Given the description of an element on the screen output the (x, y) to click on. 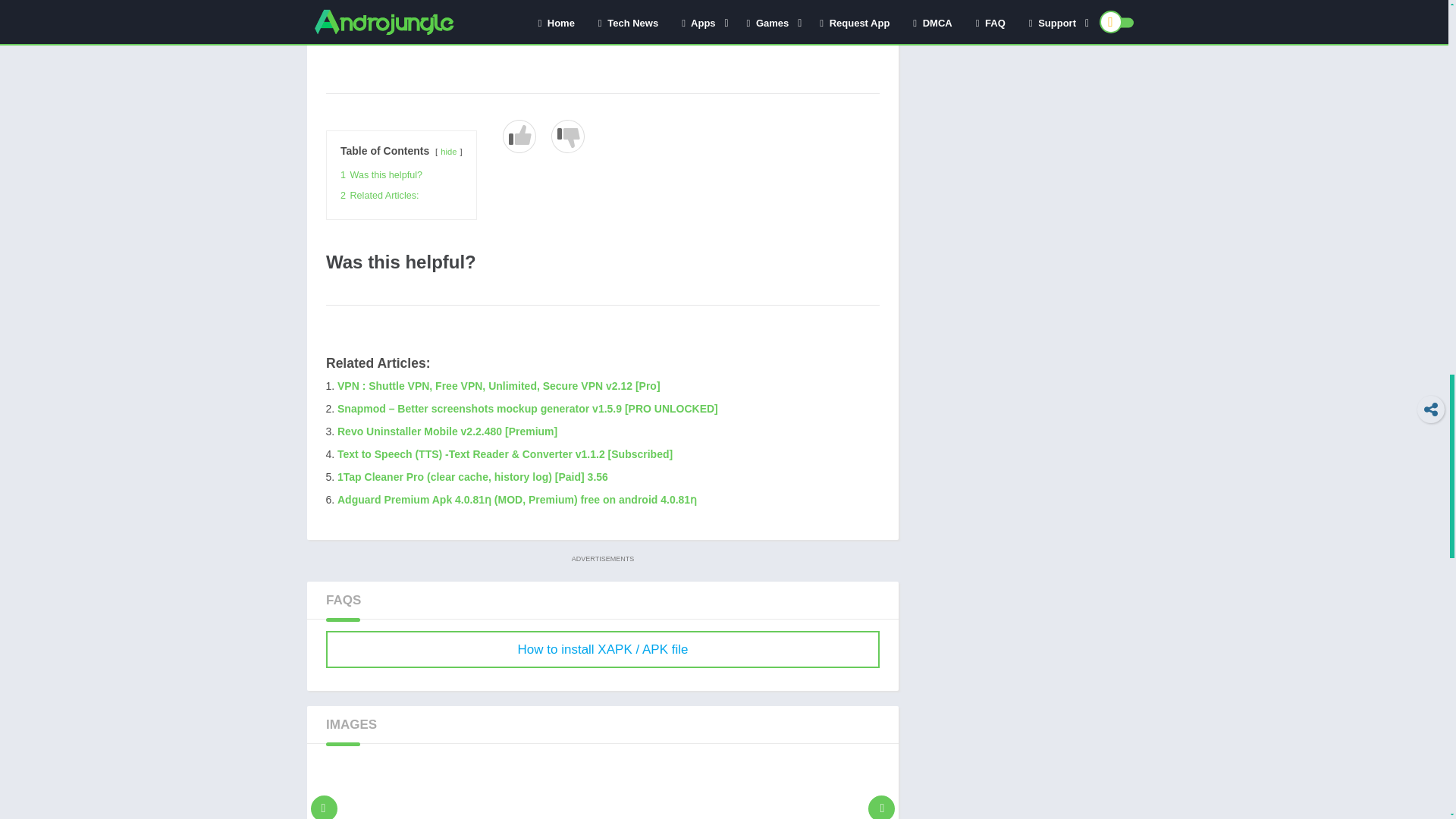
Previous (323, 787)
